Given the description of an element on the screen output the (x, y) to click on. 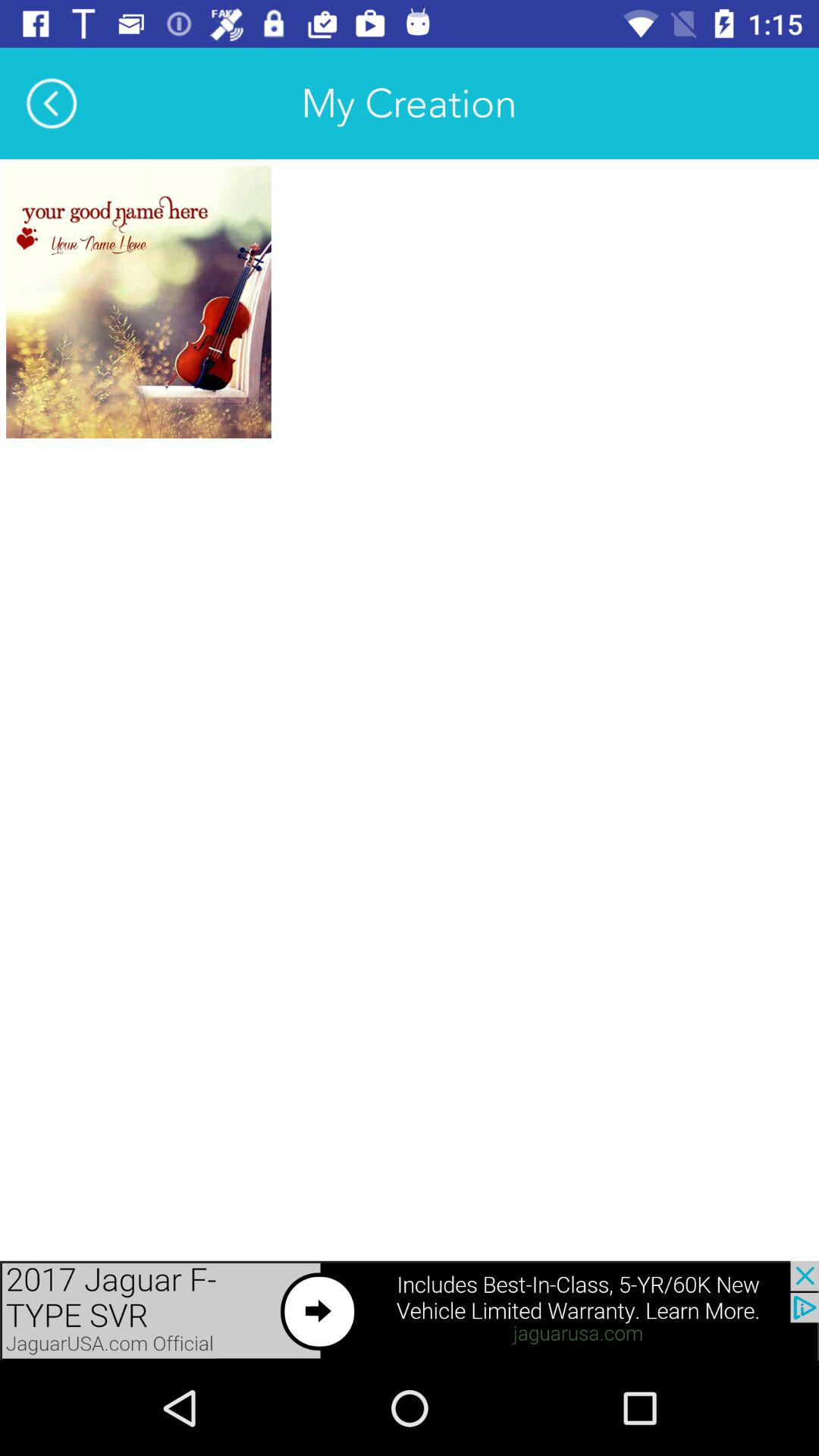
advertisement link (409, 1310)
